Given the description of an element on the screen output the (x, y) to click on. 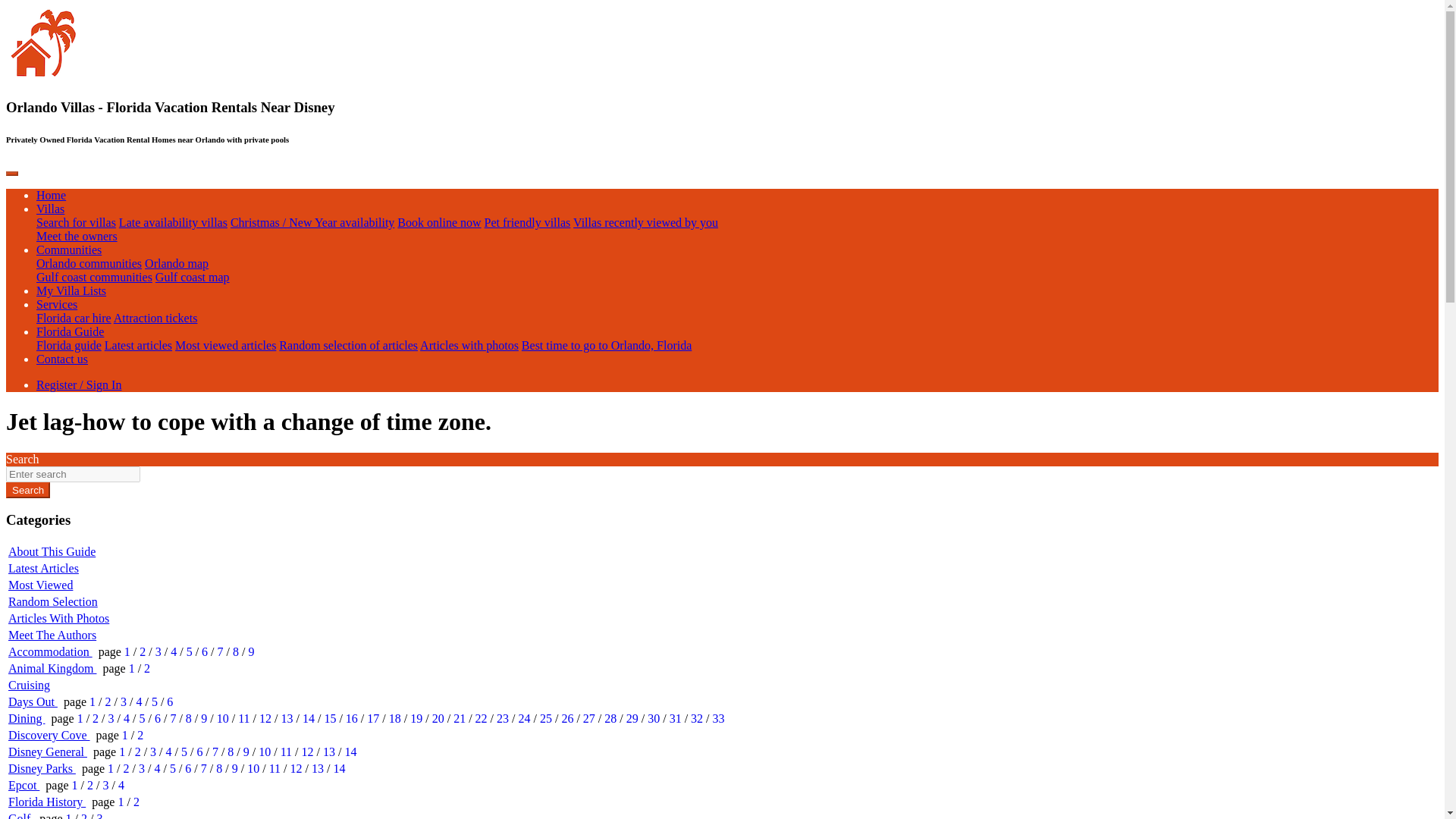
Meet The Authors (52, 634)
Late availability villas (173, 222)
Meet the owners (76, 236)
Home (50, 195)
About This Guide (52, 551)
Search (27, 489)
Orlando communities (88, 263)
Florida guide (68, 345)
Book online now (438, 222)
Articles with photos (469, 345)
Latest Articles (43, 567)
Gulf coast map (192, 277)
Villas recently viewed by you (645, 222)
My Villa Lists (71, 290)
Communities (68, 249)
